Given the description of an element on the screen output the (x, y) to click on. 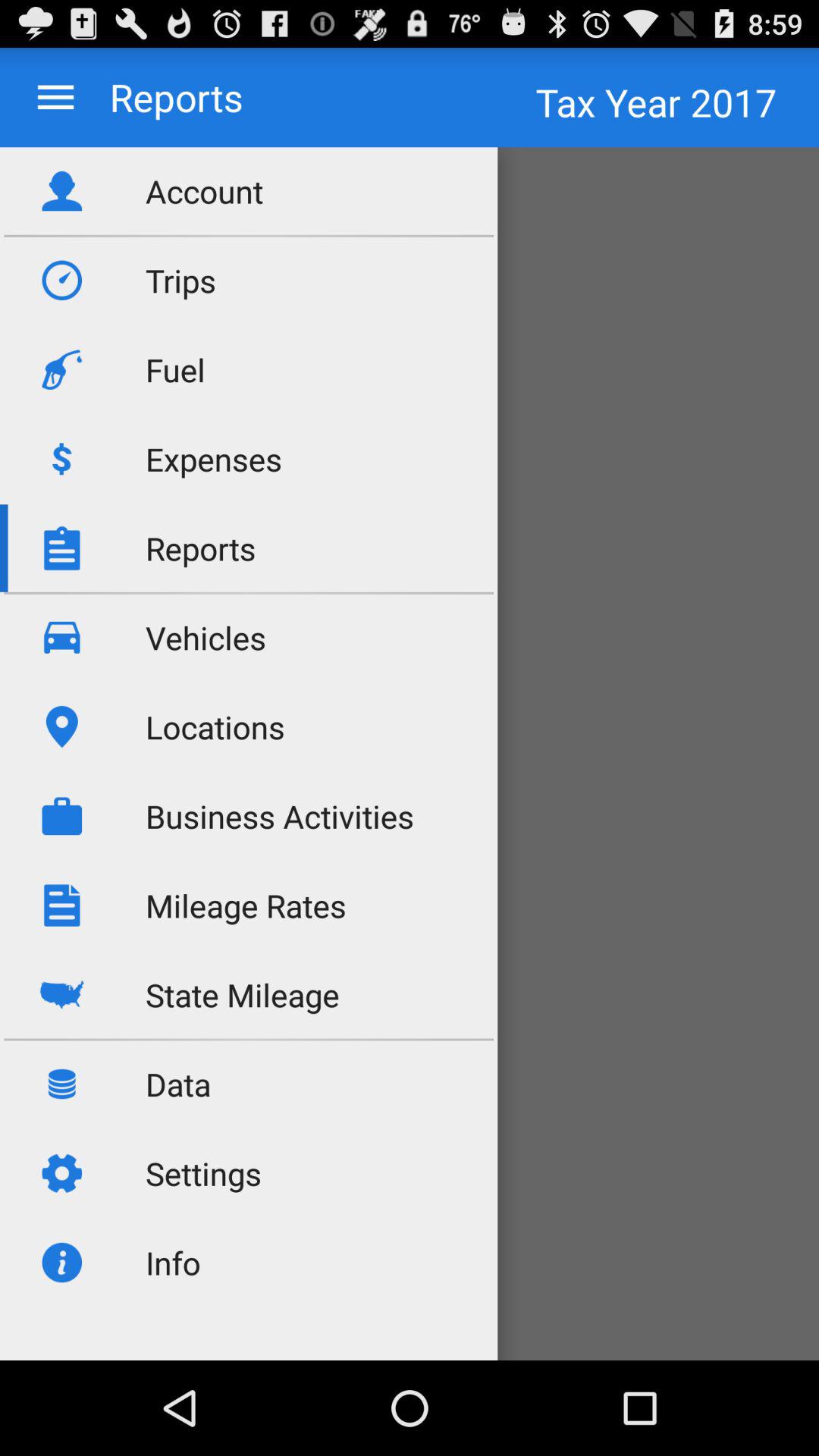
flip until fuel item (175, 369)
